Given the description of an element on the screen output the (x, y) to click on. 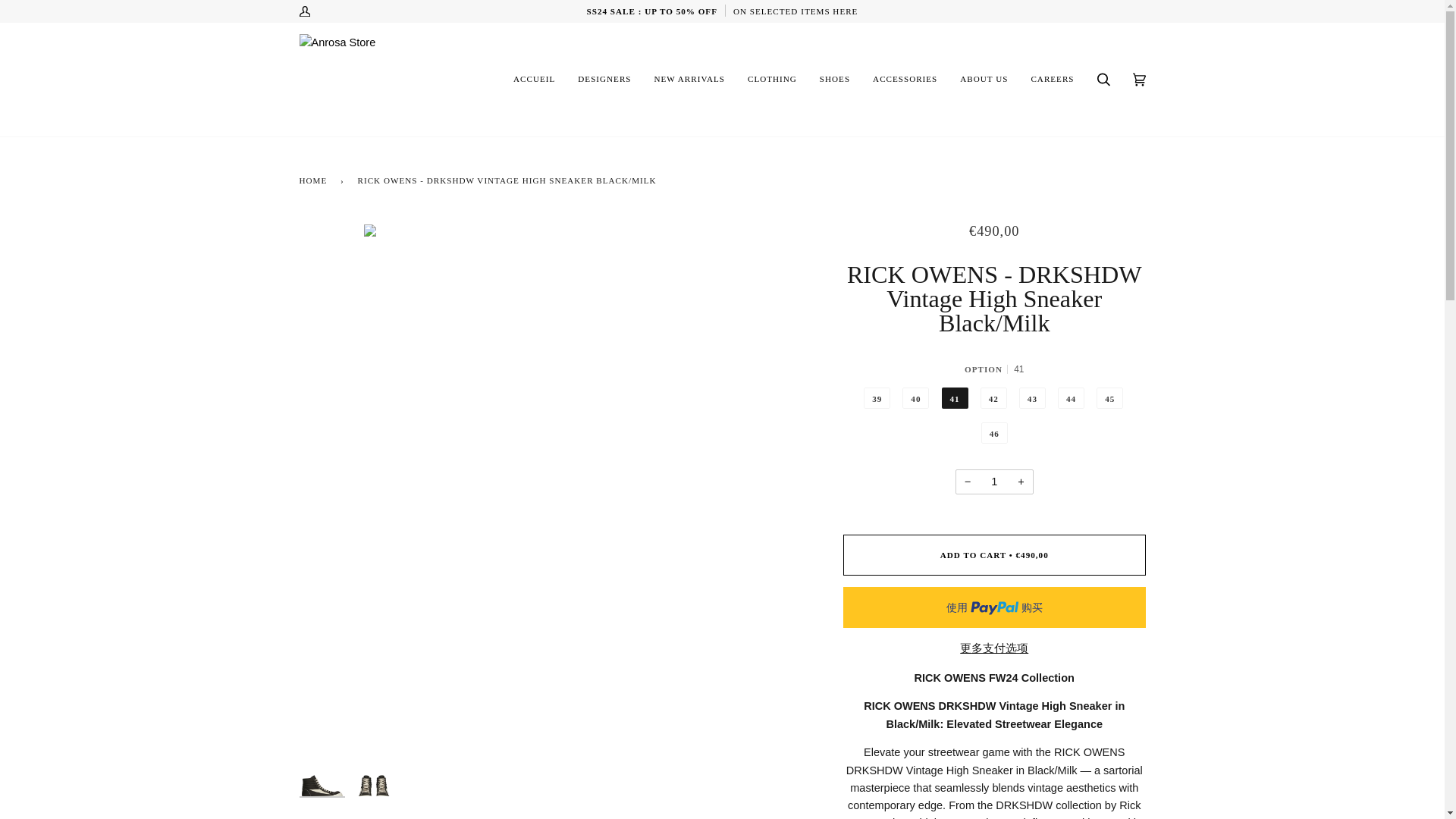
Back to the frontpage (314, 180)
1 (994, 481)
HOME (314, 180)
